Given the description of an element on the screen output the (x, y) to click on. 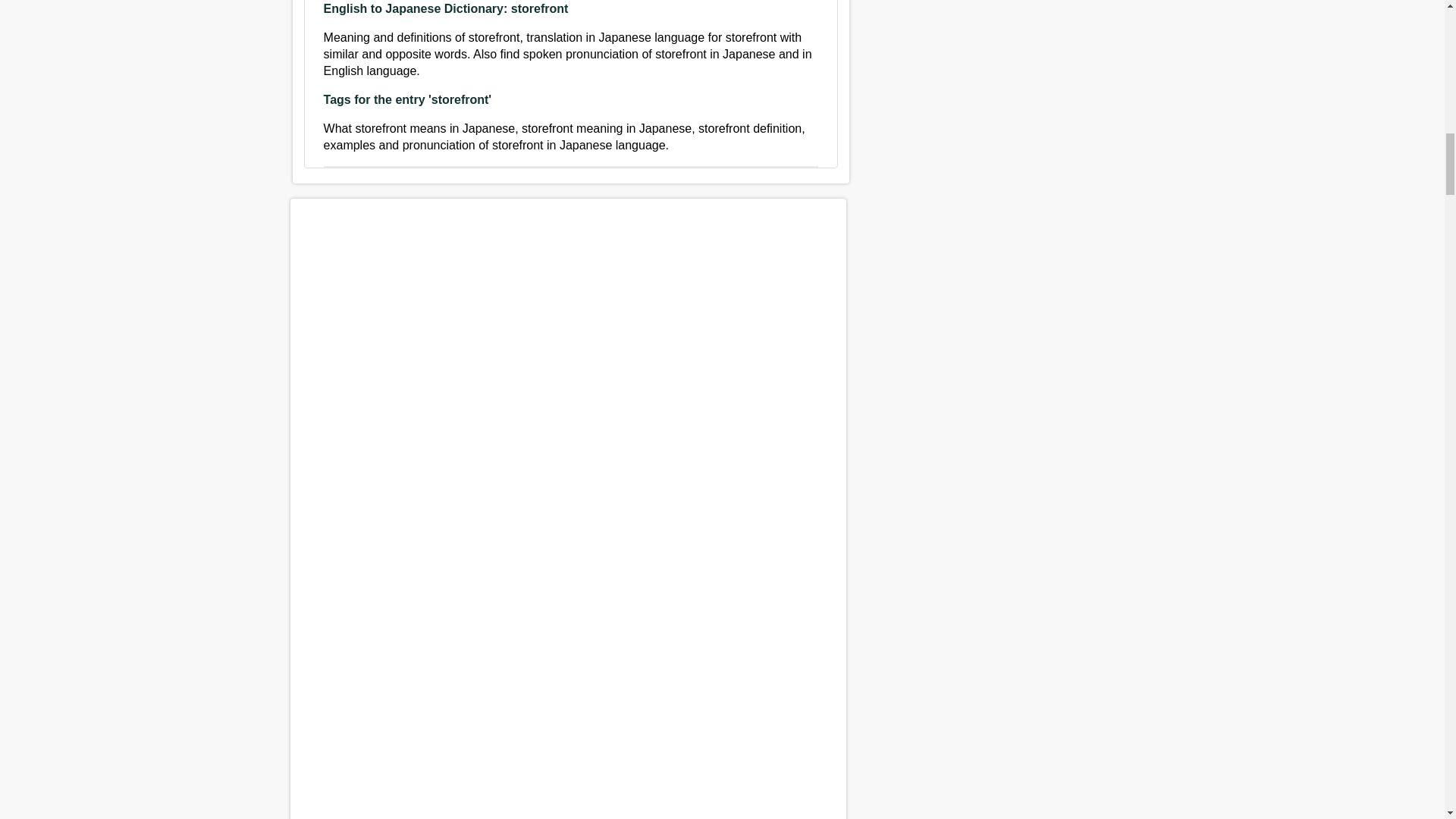
Learn Prepositions by Photos (567, 749)
